Given the description of an element on the screen output the (x, y) to click on. 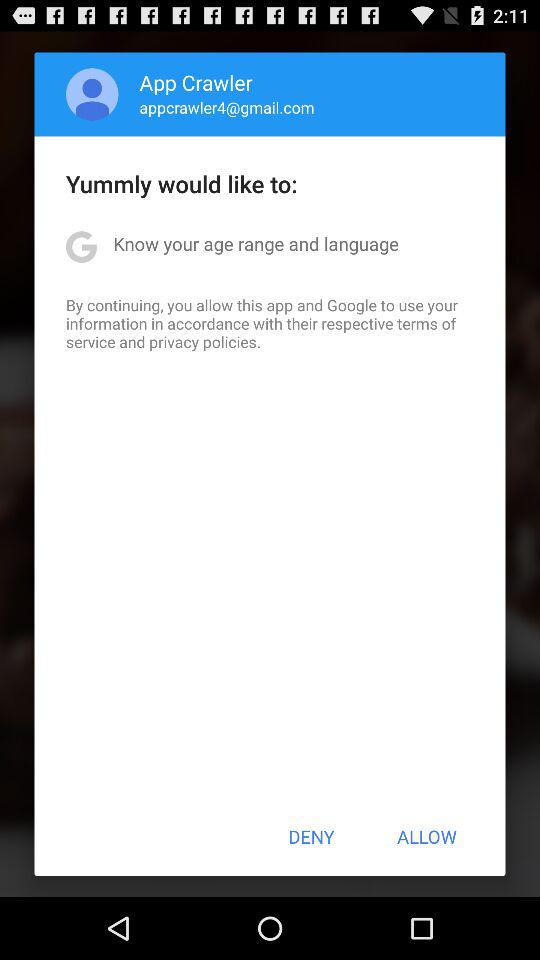
press app above by continuing you item (255, 243)
